Given the description of an element on the screen output the (x, y) to click on. 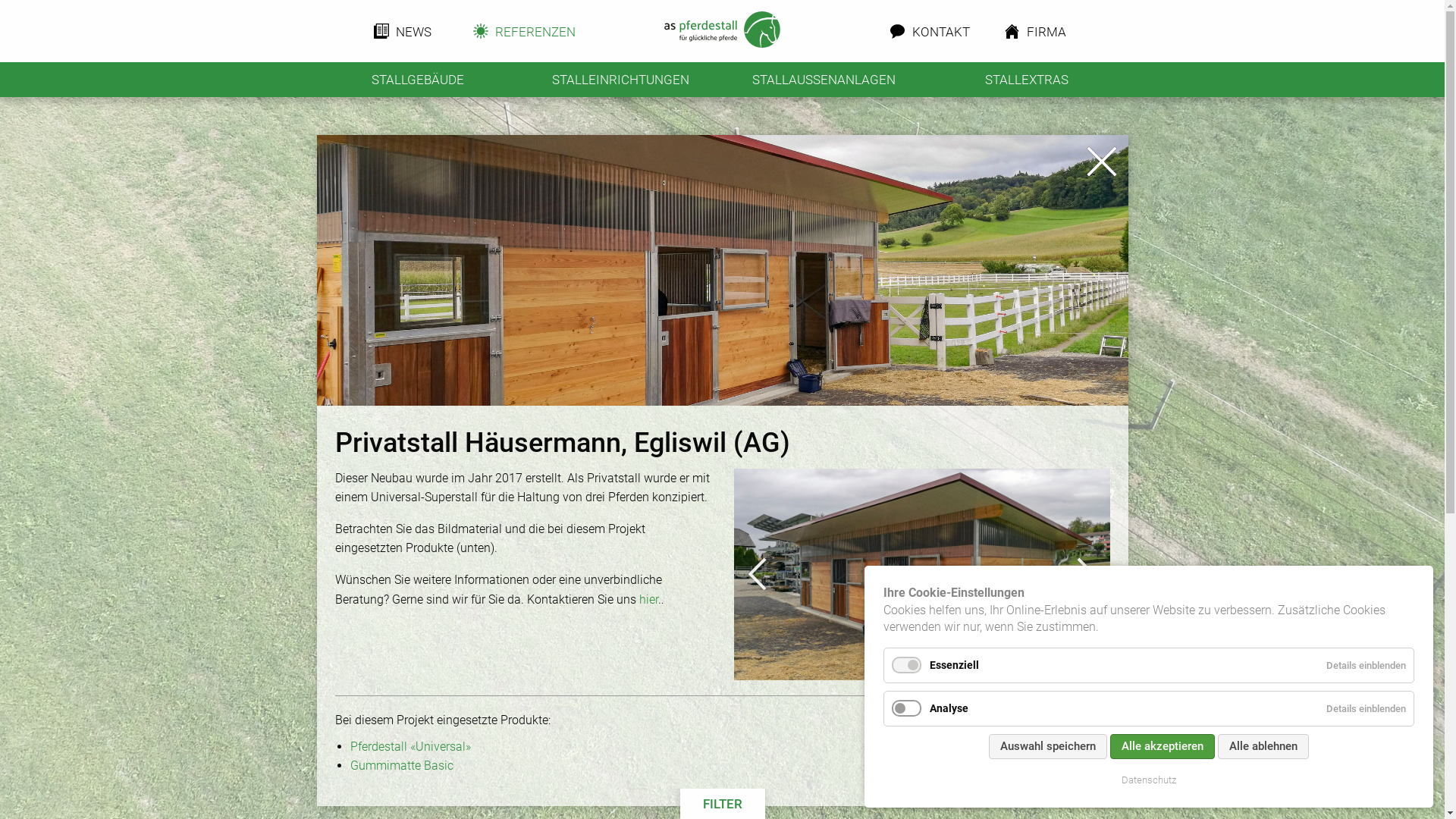
Previous Element type: text (757, 574)
NEWS Element type: text (402, 31)
Datenschutz Element type: text (1148, 779)
STALLAUSSENANLAGEN Element type: text (823, 79)
Auswahl speichern Element type: text (1047, 746)
Details einblenden Element type: text (1365, 665)
STALLEINRICHTUNGEN Element type: text (620, 79)
Details einblenden Element type: text (1365, 708)
Gummimatte Basic Element type: text (730, 765)
hier Element type: text (647, 599)
Next Element type: text (1086, 574)
Alle akzeptieren Element type: text (1162, 746)
Alle ablehnen Element type: text (1262, 746)
FIRMA Element type: text (1034, 31)
KONTAKT Element type: text (927, 31)
REFERENZEN Element type: text (519, 31)
STALLEXTRAS Element type: text (1026, 79)
